Given the description of an element on the screen output the (x, y) to click on. 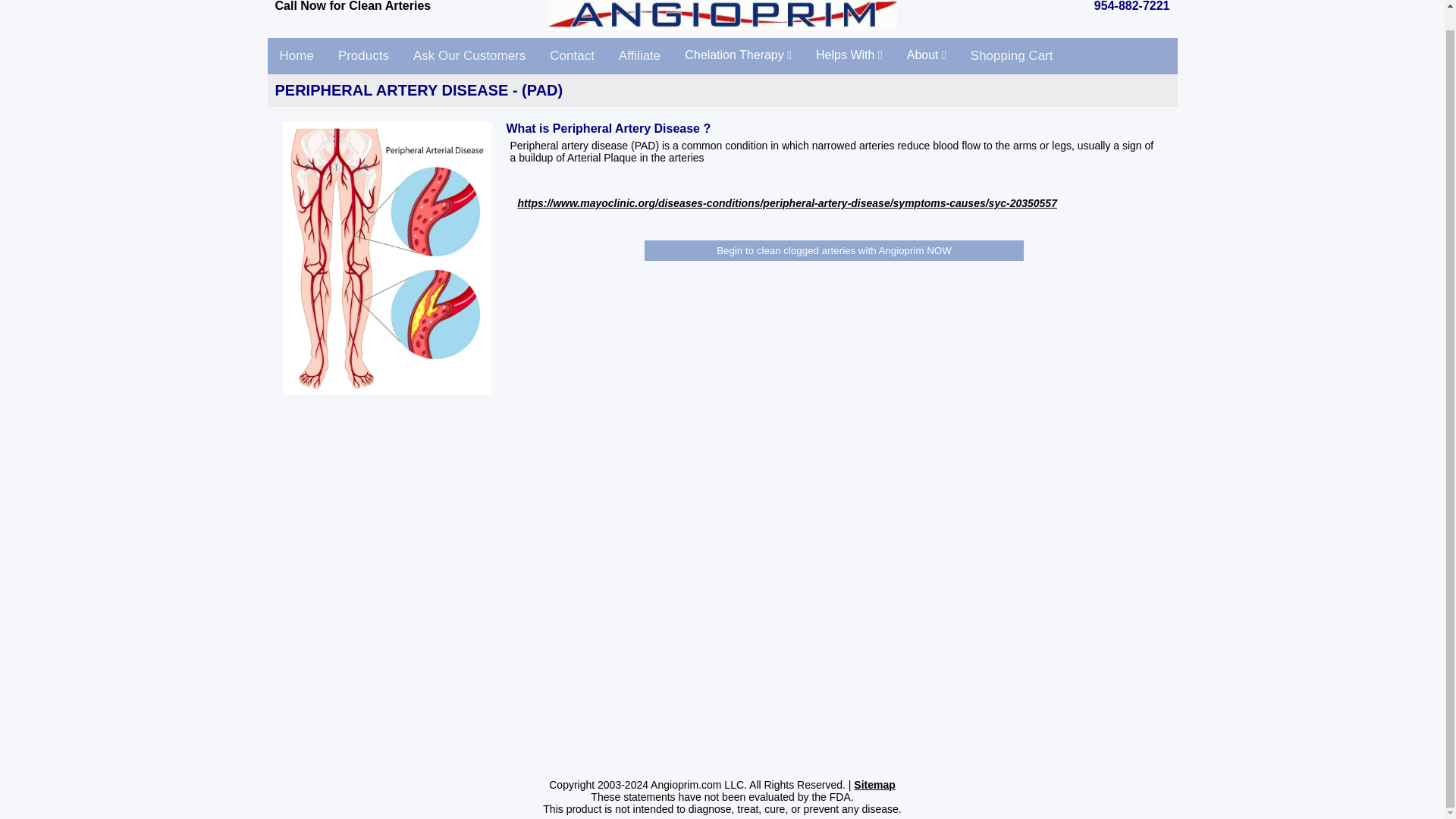
Ask Our Customers (469, 55)
Affiliate (639, 55)
Begin to clean clogged arteries with Angioprim NOW (834, 250)
Home (295, 55)
Ask Our Customers (469, 55)
Affiliate (639, 55)
Products (363, 55)
Helps With (849, 54)
Chelation Therapy (737, 54)
About (926, 54)
Contact Us (572, 55)
Clean blocked arteries (295, 55)
Contact (572, 55)
Shopping Cart (1011, 55)
Products (363, 55)
